Given the description of an element on the screen output the (x, y) to click on. 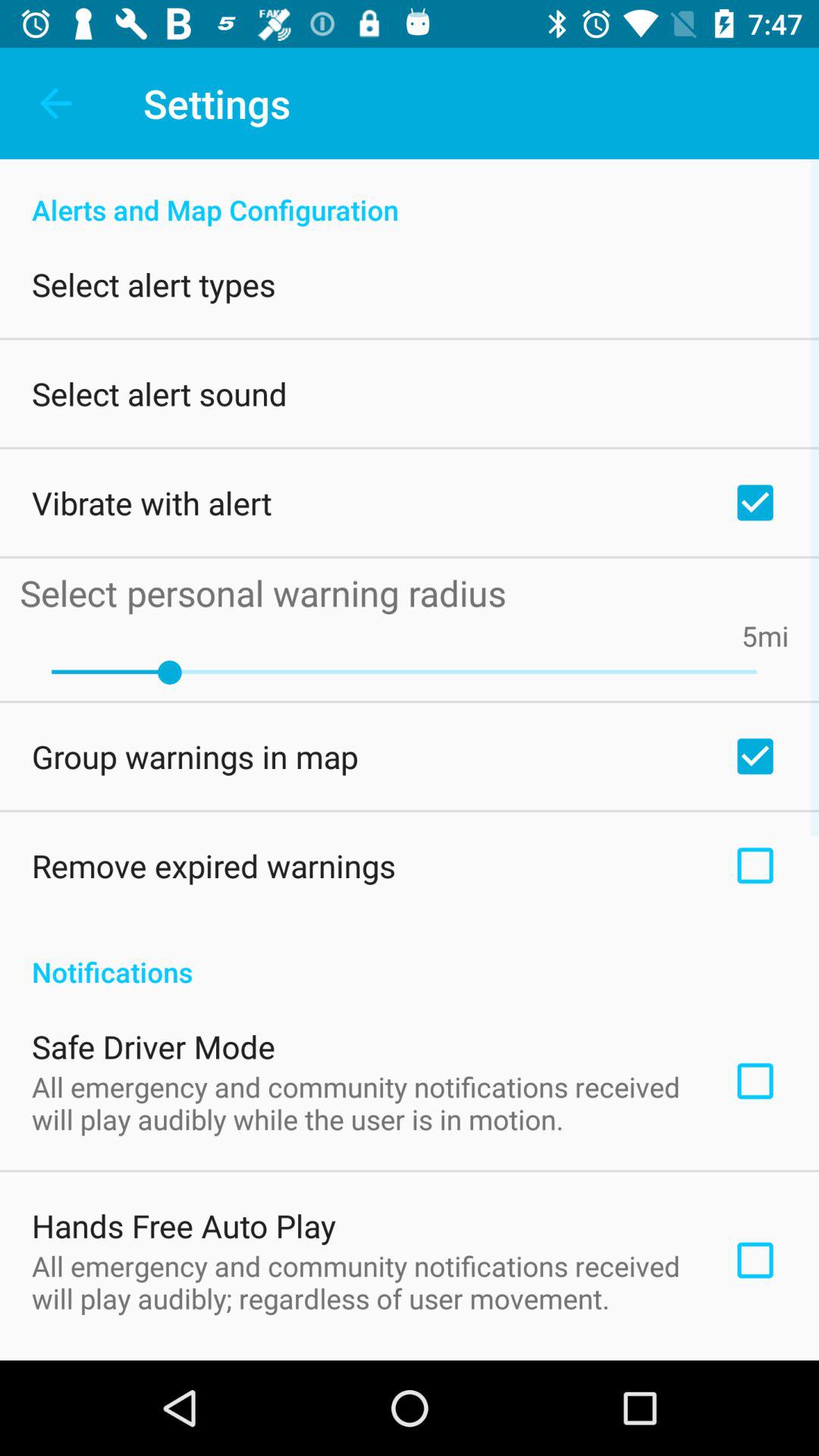
jump until the 5 item (748, 635)
